Given the description of an element on the screen output the (x, y) to click on. 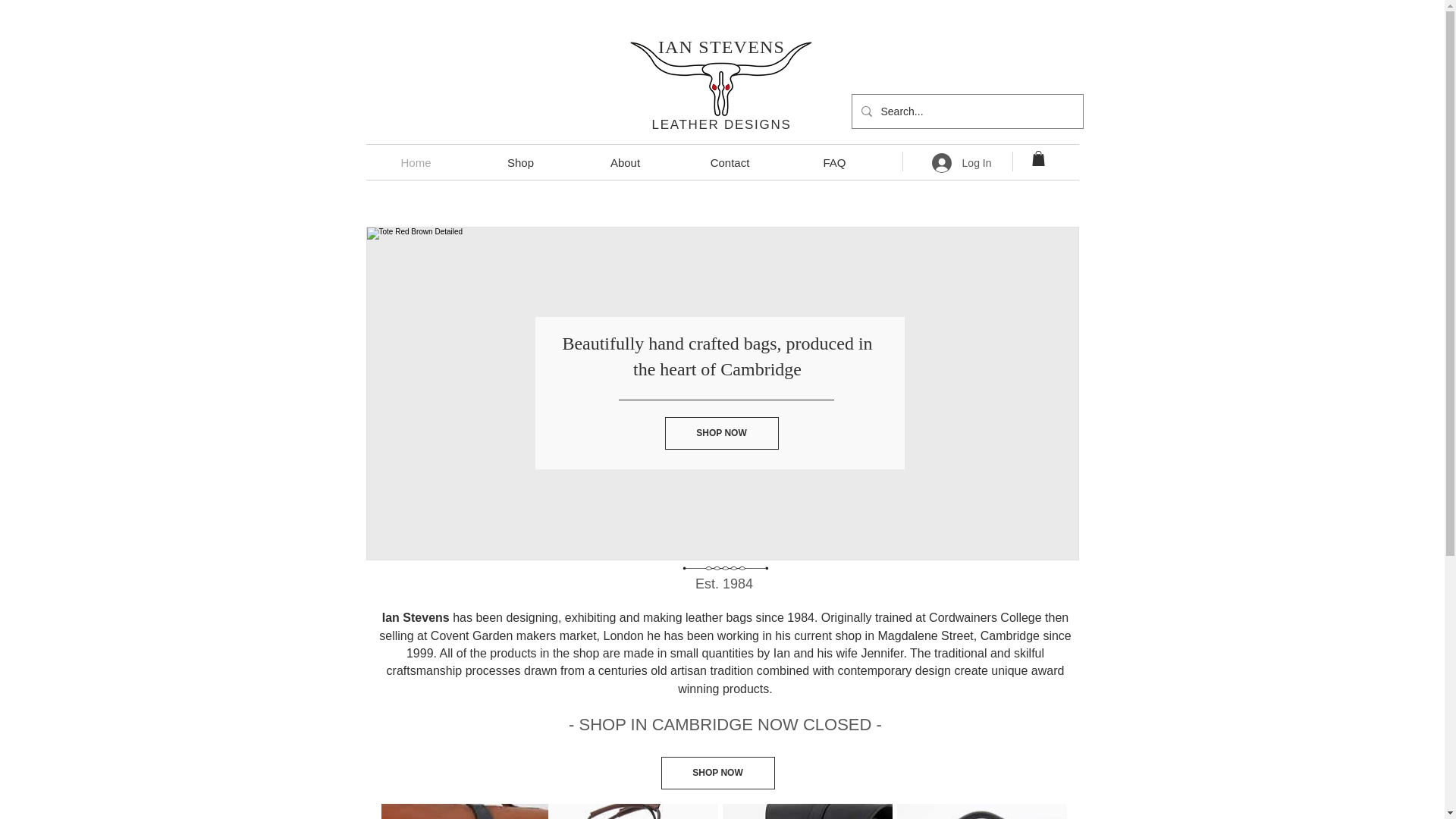
Contact (730, 162)
About (625, 162)
Log In (962, 162)
LEATHER DESIGNS (722, 124)
Home (416, 162)
IAN STEVENS (721, 46)
FAQ (834, 162)
